Given the description of an element on the screen output the (x, y) to click on. 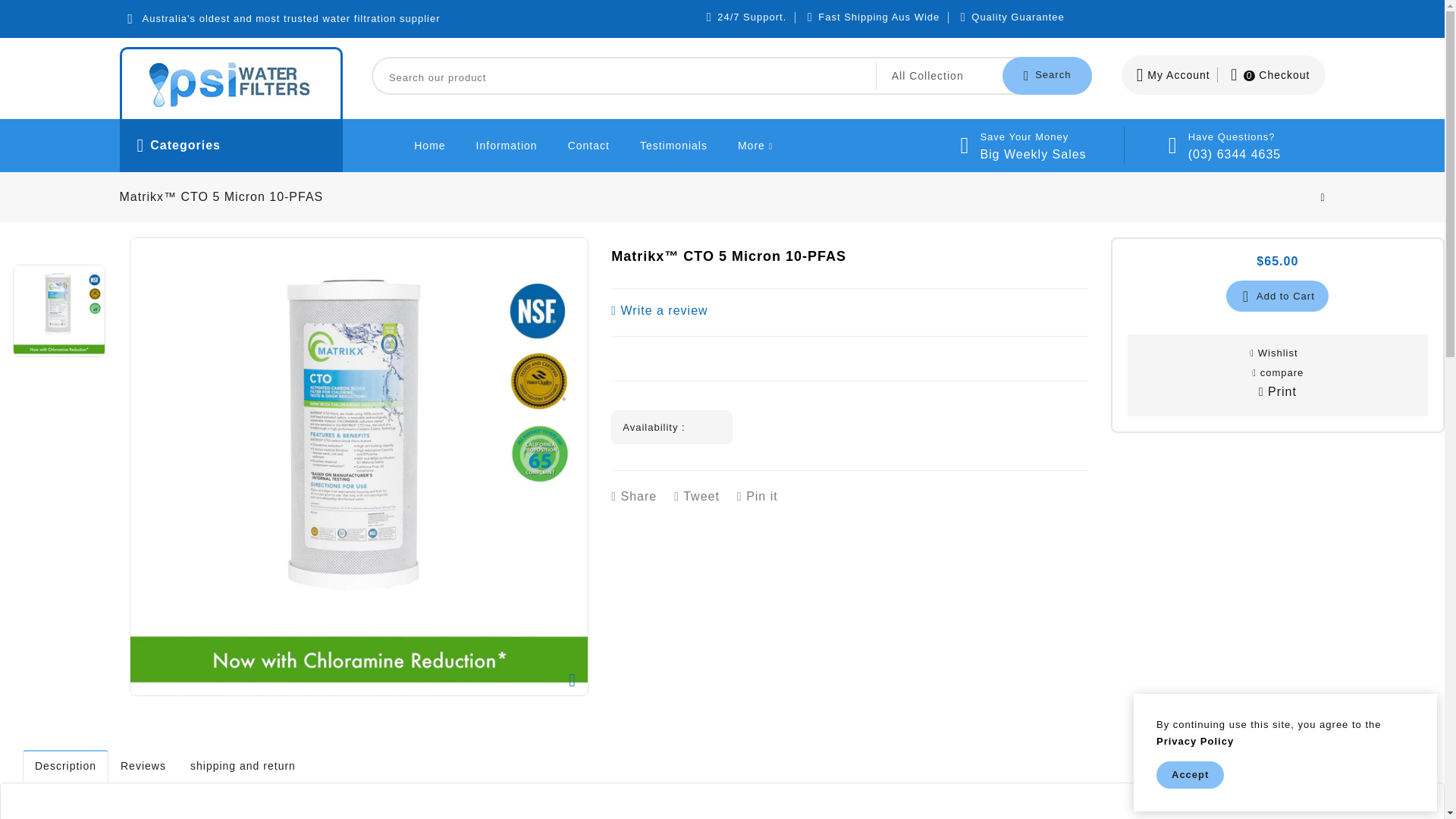
PSI Water Filters Australia (230, 84)
My Account (1173, 75)
Checkout (1267, 75)
Quality Guarantee (1017, 16)
Search (1047, 75)
Your Cart (1276, 75)
Fast Shipping Aus Wide (878, 16)
0Checkout (1267, 75)
